Given the description of an element on the screen output the (x, y) to click on. 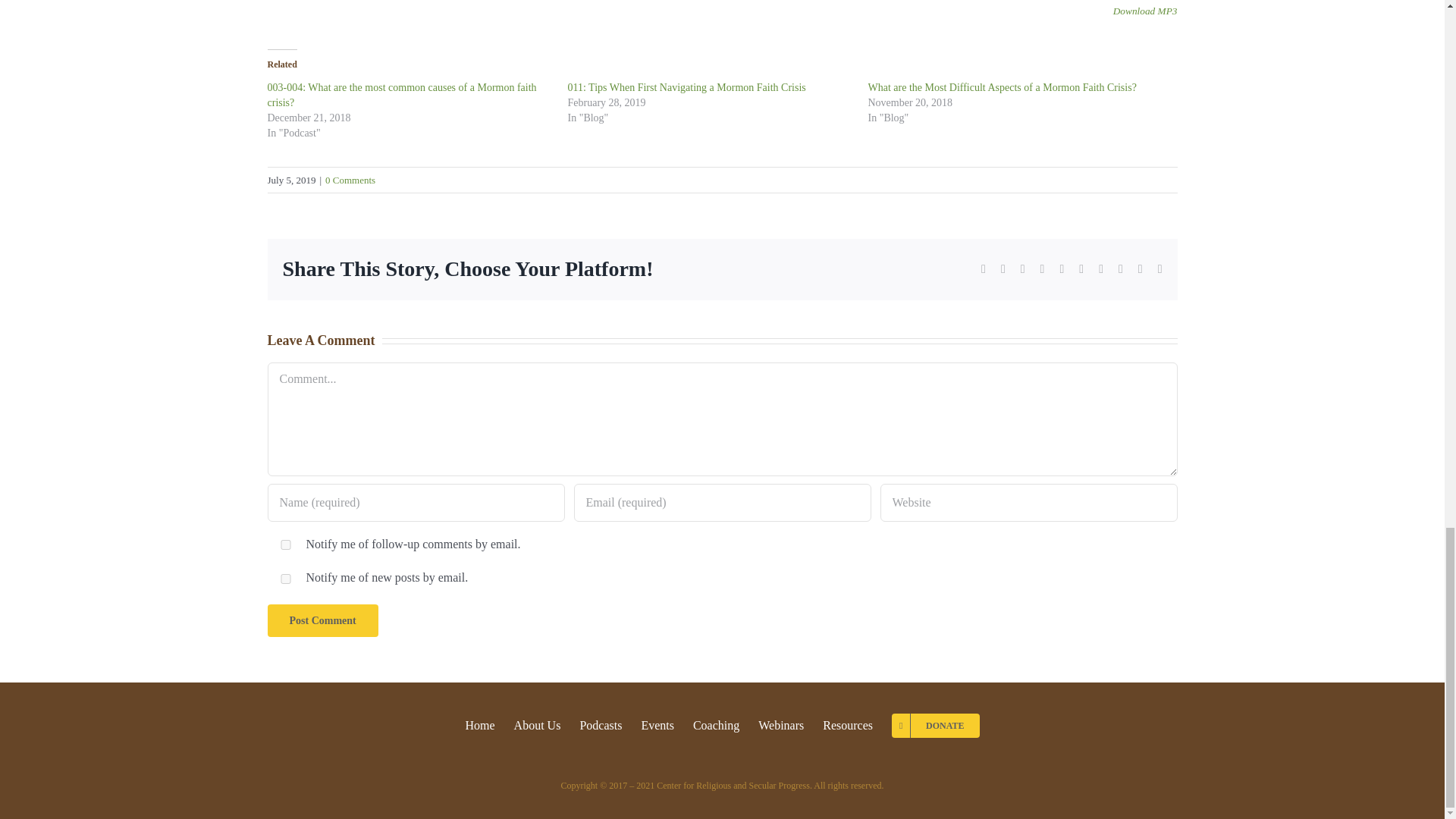
subscribe (284, 544)
Post Comment (321, 620)
subscribe (284, 578)
011: Tips When First Navigating a Mormon Faith Crisis (686, 87)
